Given the description of an element on the screen output the (x, y) to click on. 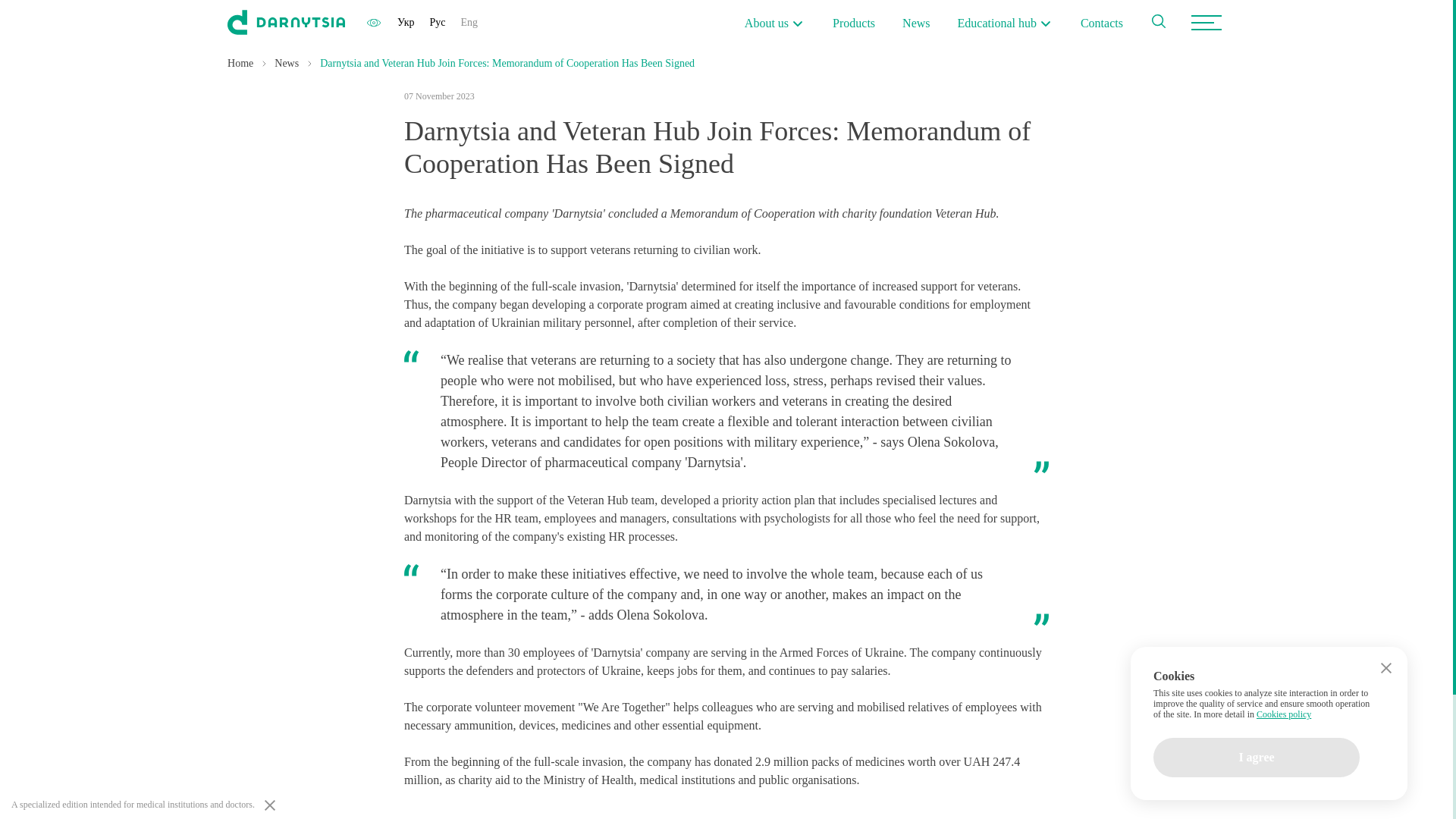
I agree (1256, 757)
Products (853, 22)
Contacts (1100, 22)
Cookies policy (1283, 714)
News (916, 22)
